Given the description of an element on the screen output the (x, y) to click on. 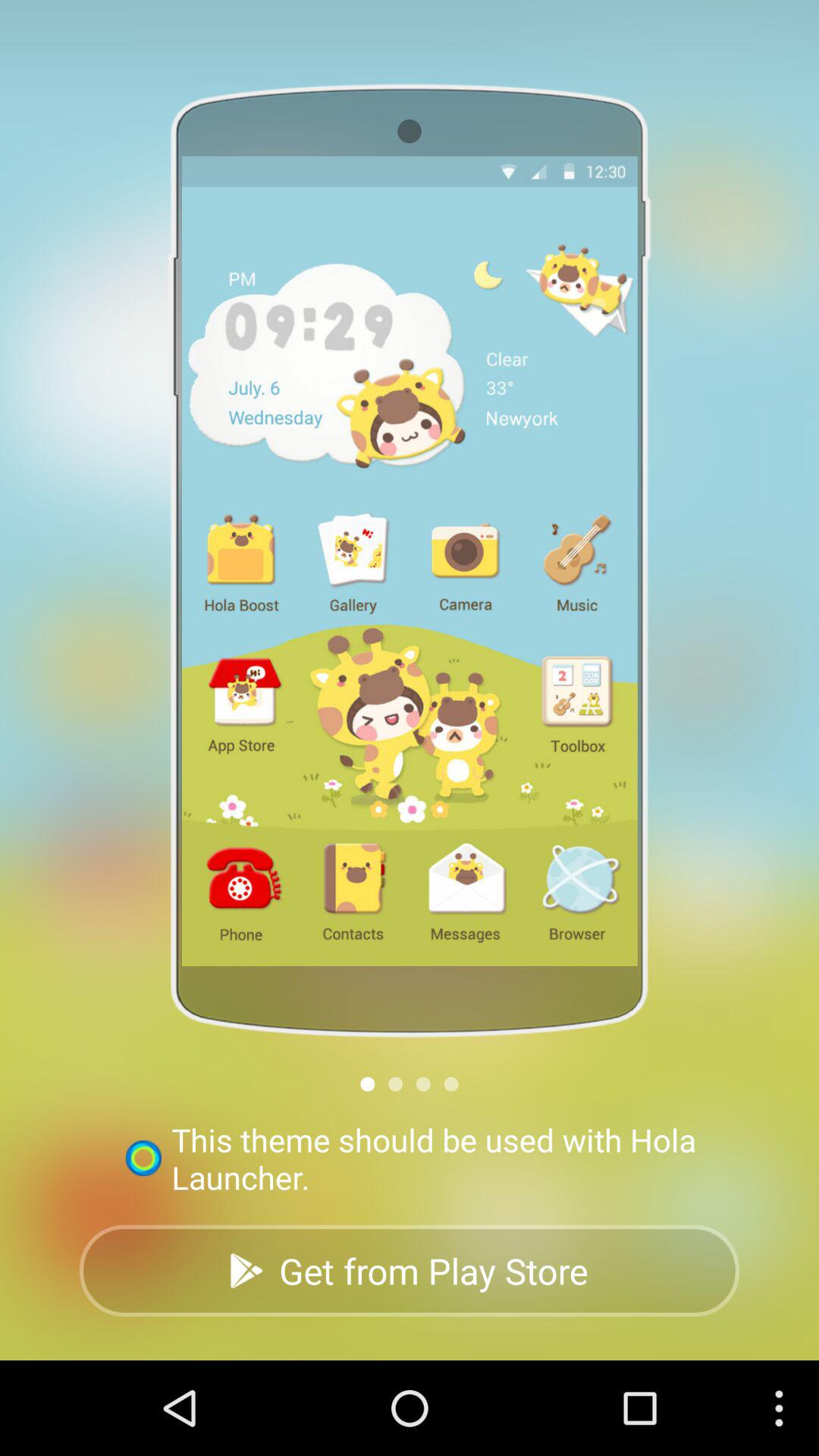
go to next section (451, 1084)
